Given the description of an element on the screen output the (x, y) to click on. 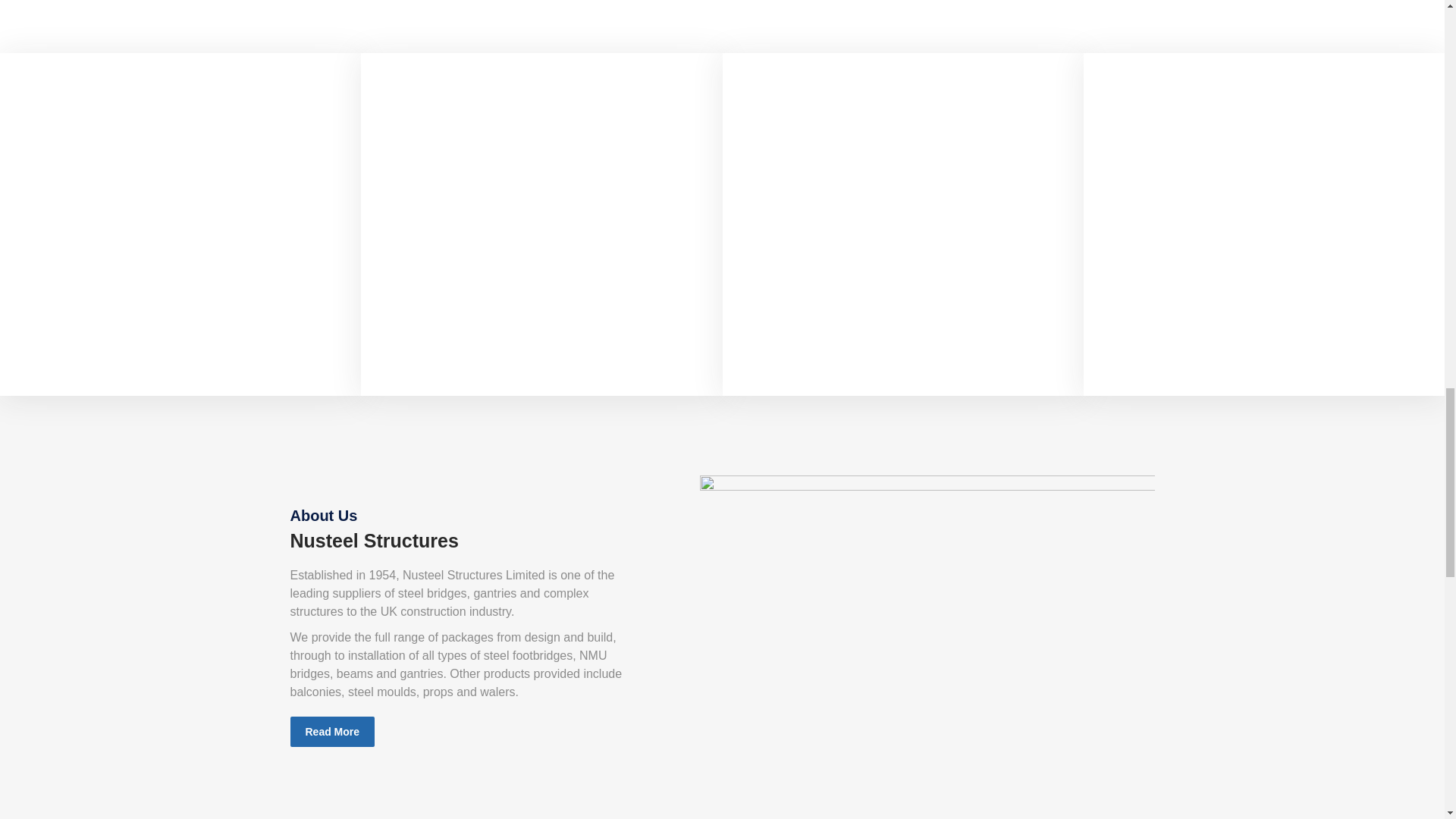
Read More (425, 359)
Read More (1147, 359)
Read More (64, 359)
Read More (331, 731)
Read More (786, 359)
